Given the description of an element on the screen output the (x, y) to click on. 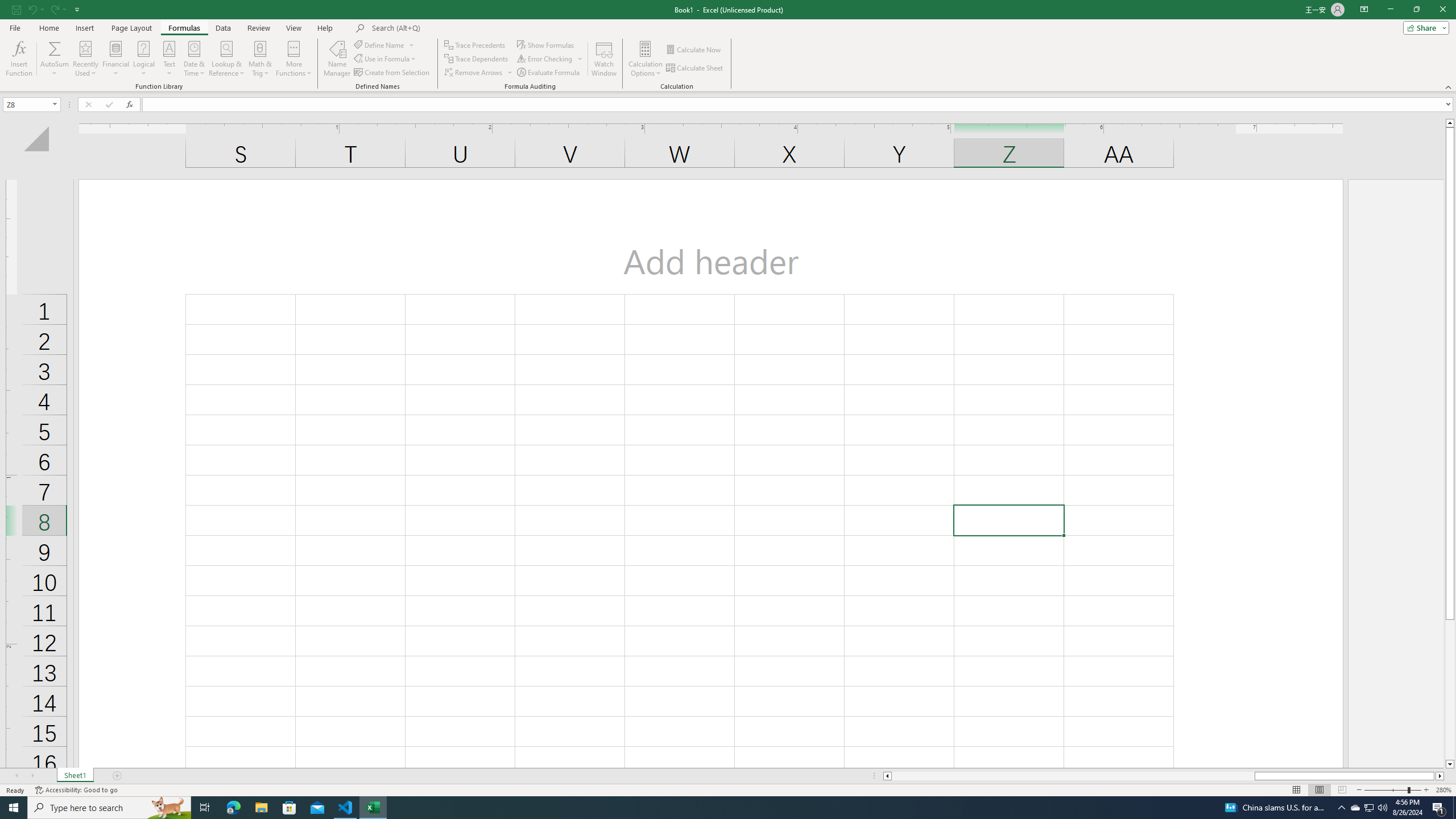
Use in Formula (385, 58)
Show Formulas (546, 44)
Logical (143, 58)
Insert Function... (18, 58)
Error Checking... (545, 58)
Formula Bar (798, 104)
